Given the description of an element on the screen output the (x, y) to click on. 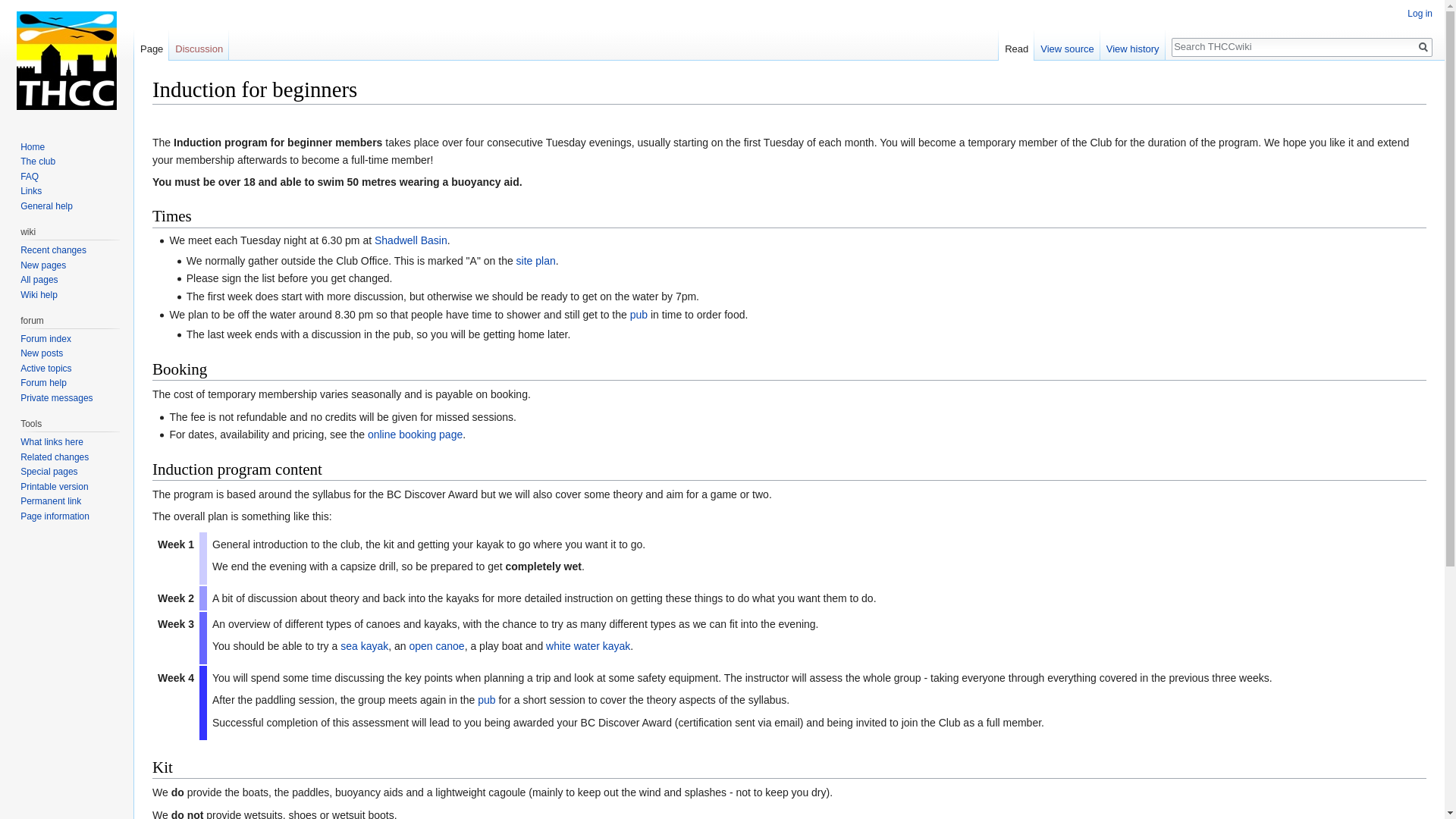
View history (1133, 45)
sea kayak (364, 645)
Log in (1419, 13)
Links (31, 190)
Basin site plan (536, 260)
The club (37, 161)
online booking page (415, 434)
white water kayak (588, 645)
Prospect of Whitby (638, 314)
site plan (536, 260)
